Given the description of an element on the screen output the (x, y) to click on. 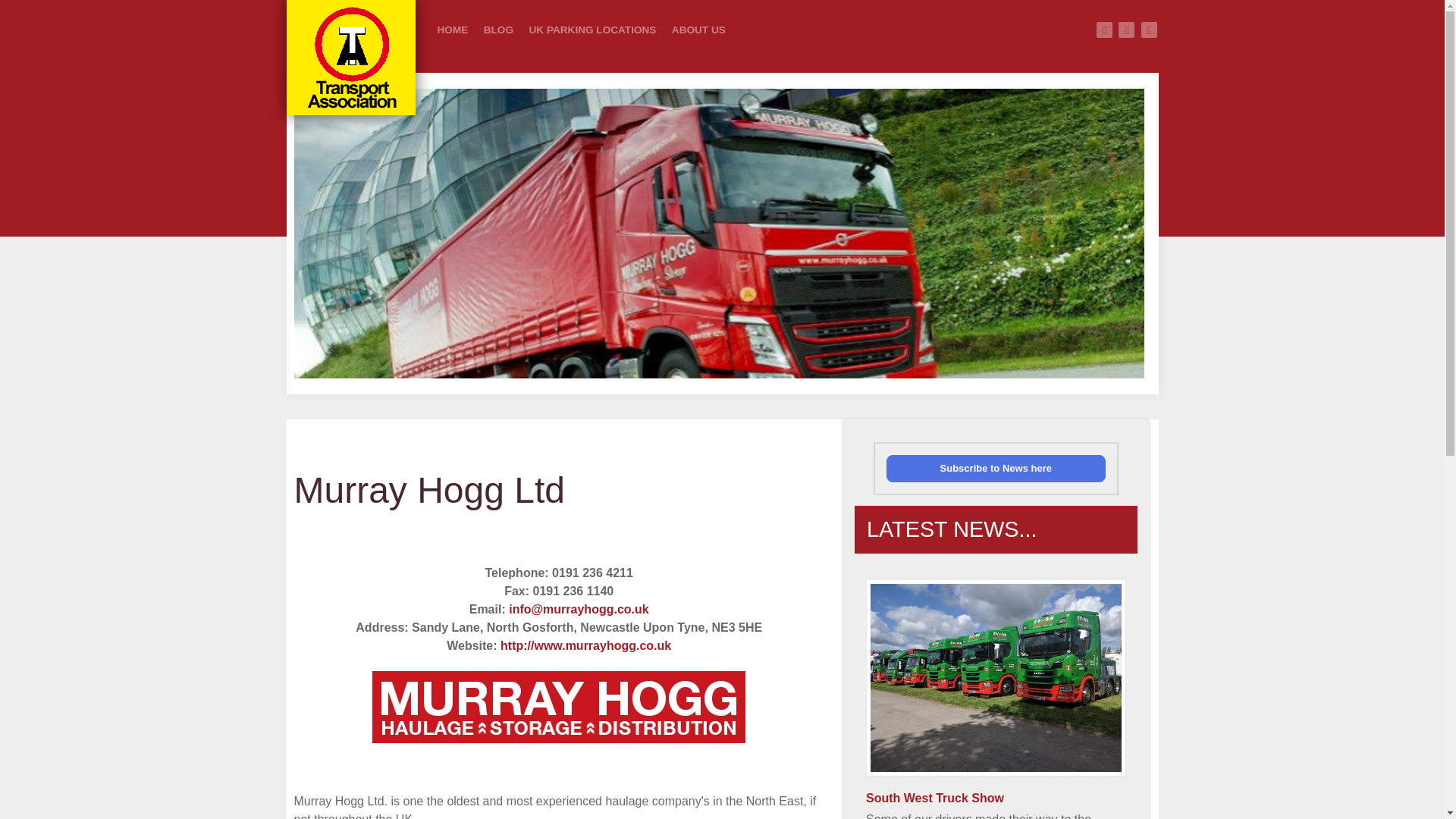
Subscribe to News here (995, 468)
HOME (451, 30)
BLOG (498, 30)
UK PARKING LOCATIONS (592, 30)
South West Truck Show (995, 677)
ABOUT US (698, 30)
South West Truck Show (935, 797)
South West Truck Show (935, 797)
